Given the description of an element on the screen output the (x, y) to click on. 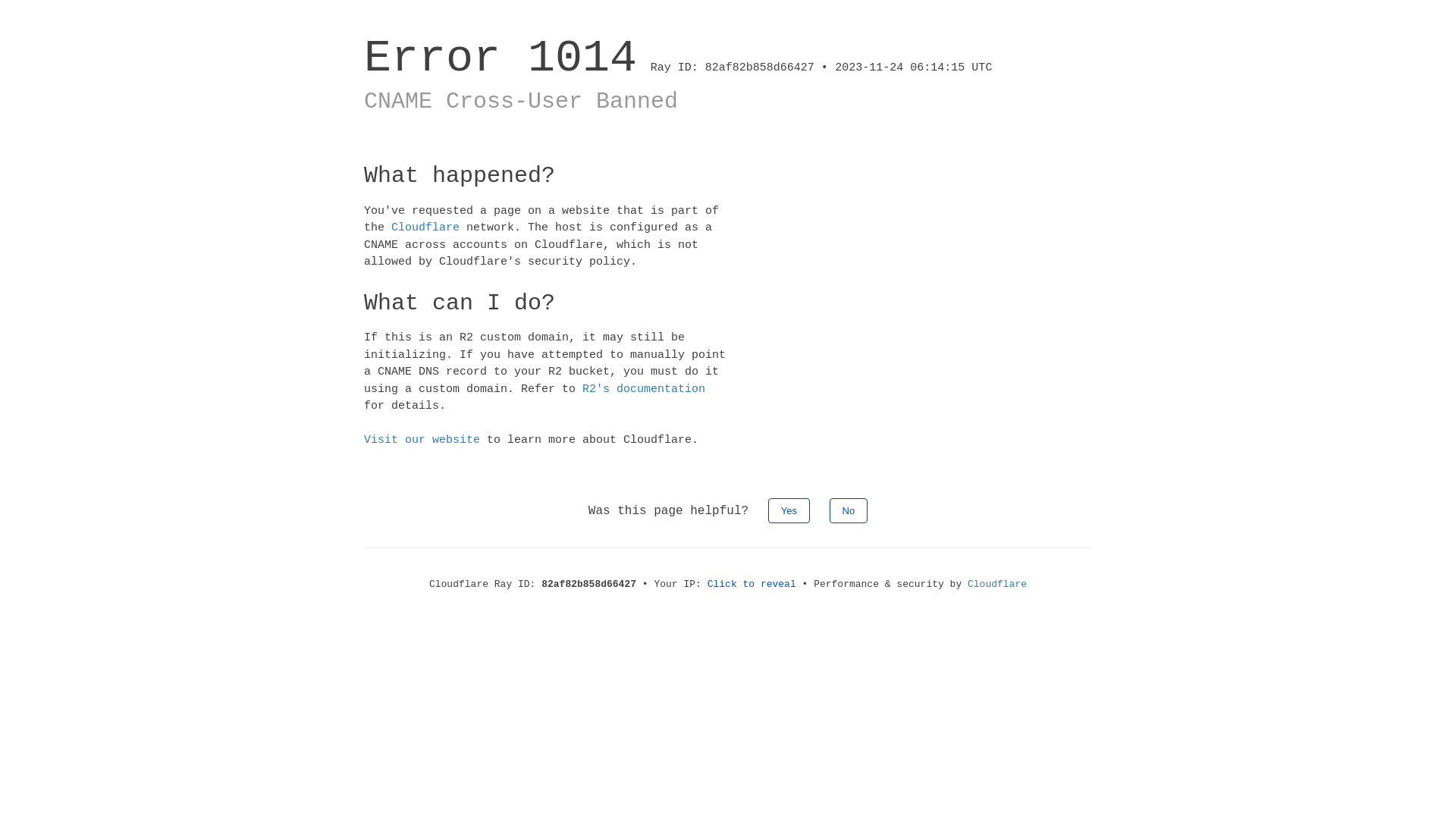
Click to reveal Element type: text (751, 583)
R2's documentation Element type: text (643, 388)
Visit our website Element type: text (422, 439)
Yes Element type: text (788, 509)
Cloudflare Element type: text (425, 227)
No Element type: text (848, 509)
Cloudflare Element type: text (996, 583)
